Given the description of an element on the screen output the (x, y) to click on. 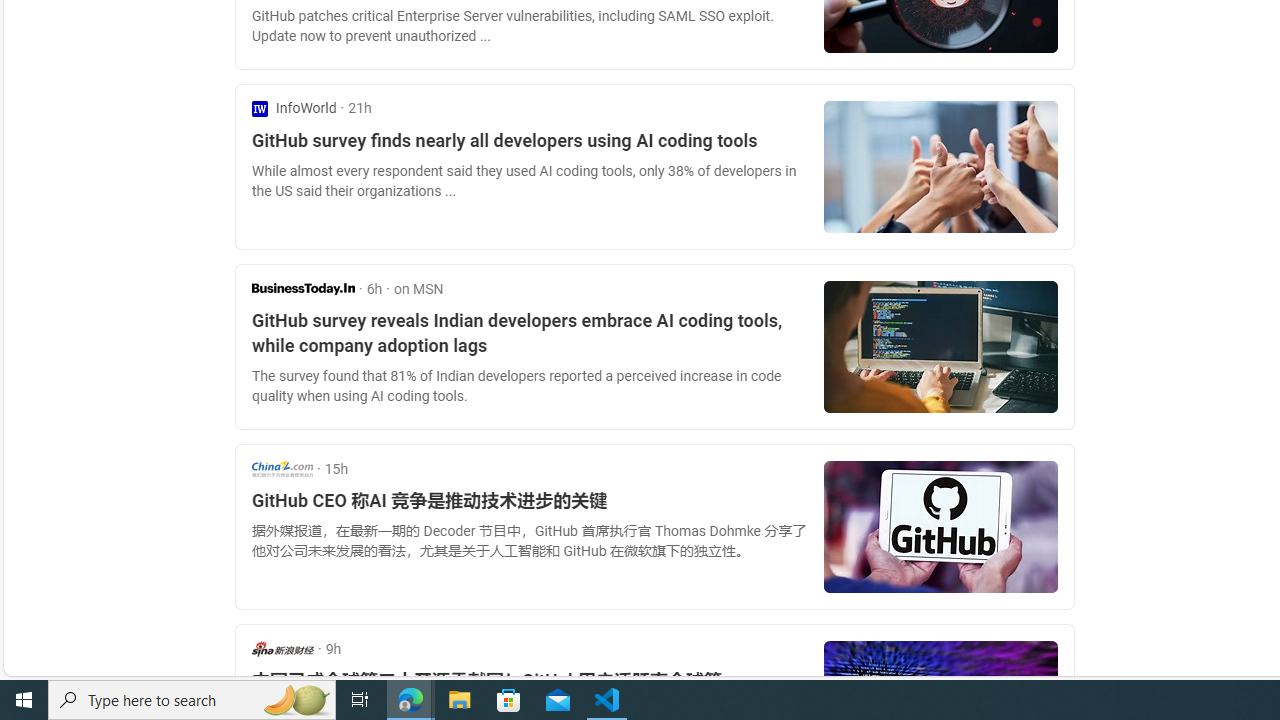
Search news from InfoWorld (294, 108)
Business Today (303, 288)
